Given the description of an element on the screen output the (x, y) to click on. 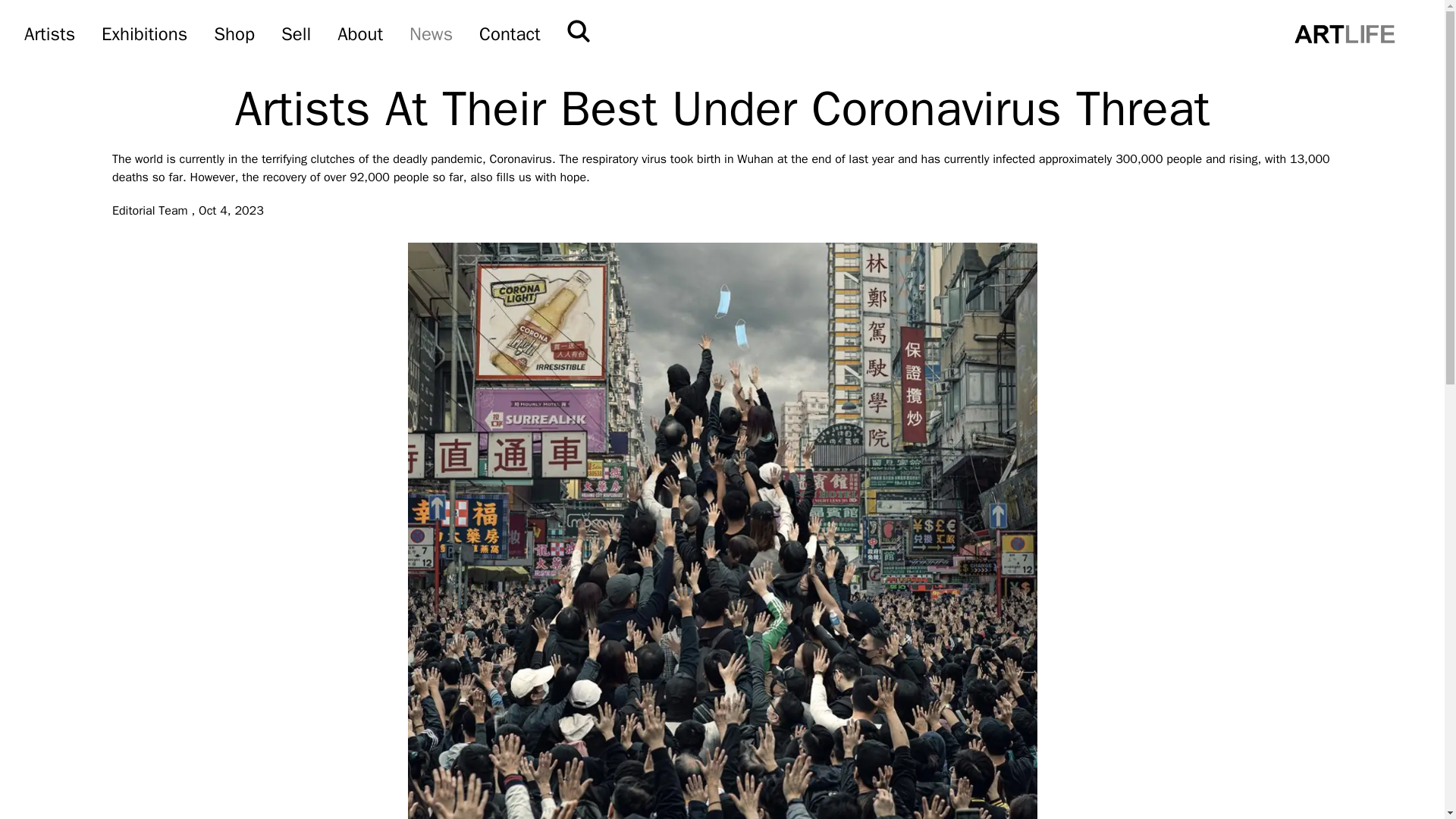
Contact (509, 33)
Home (1344, 33)
Exhibitions (144, 33)
